Given the description of an element on the screen output the (x, y) to click on. 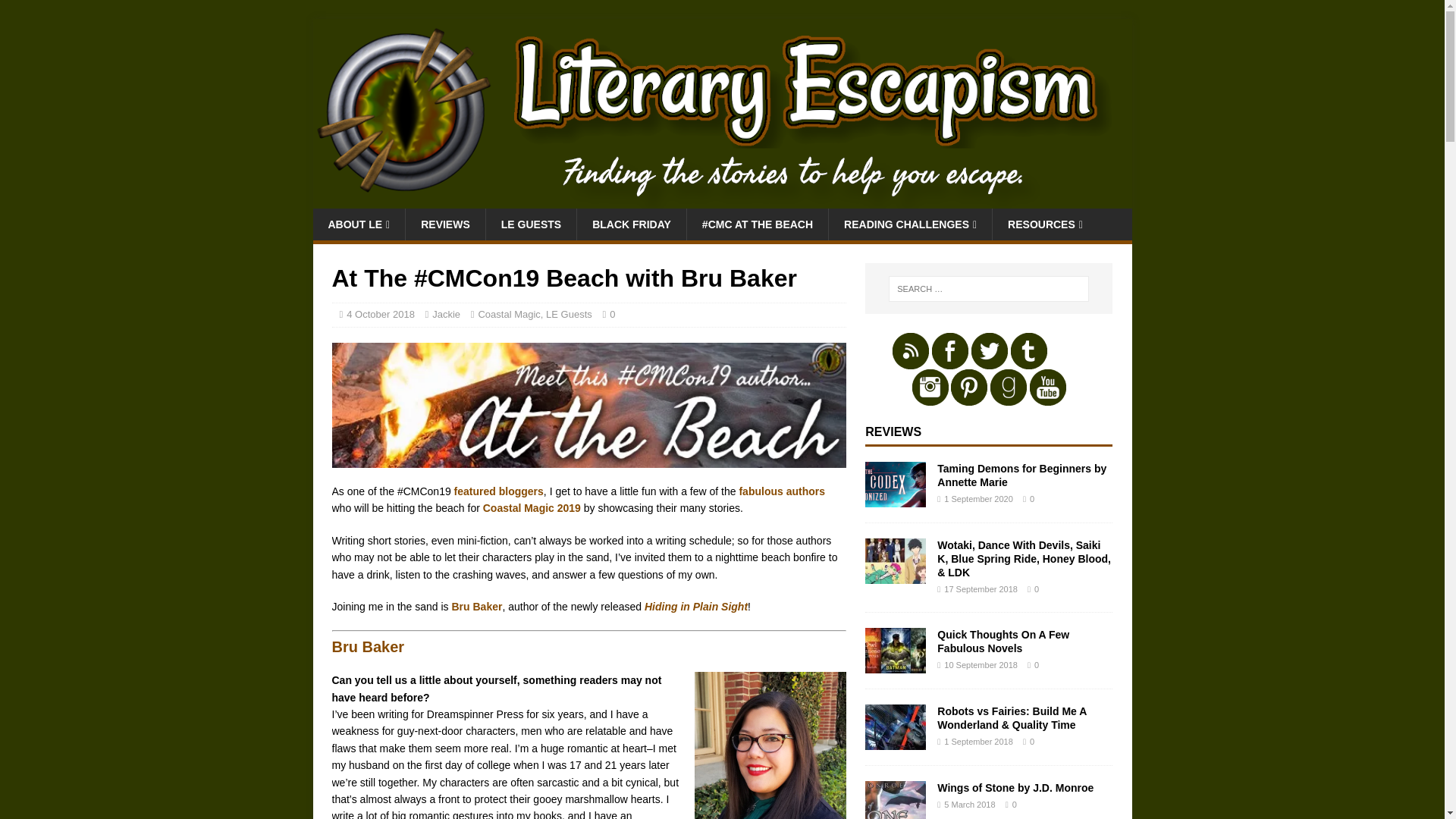
Taming Demons for Beginners by Annette Marie (1021, 475)
Taming Demons for Beginners by Annette Marie (895, 498)
Literary Escapism (722, 200)
CMC19.At the Beach.QA (588, 405)
